Given the description of an element on the screen output the (x, y) to click on. 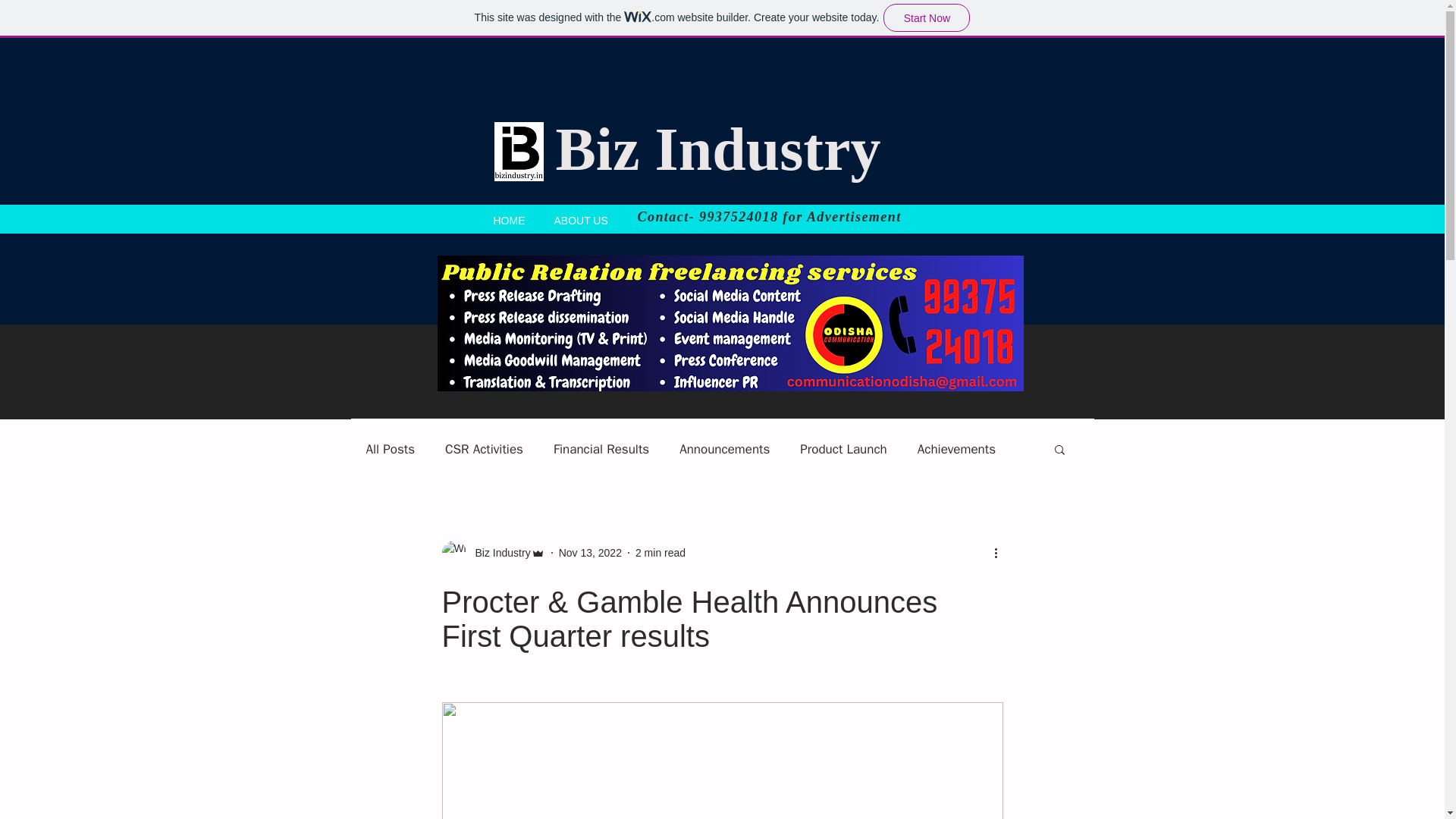
Nov 13, 2022 (590, 551)
Product Launch (842, 448)
HOME (509, 218)
CSR Activities (483, 448)
Achievements (956, 448)
Financial Results (601, 448)
All Posts (389, 448)
Biz Industry (497, 552)
bizindustry - Copy.jpg (519, 151)
2 min read (659, 551)
Announcements (724, 448)
Biz Industry (717, 149)
ABOUT US (581, 218)
